Given the description of an element on the screen output the (x, y) to click on. 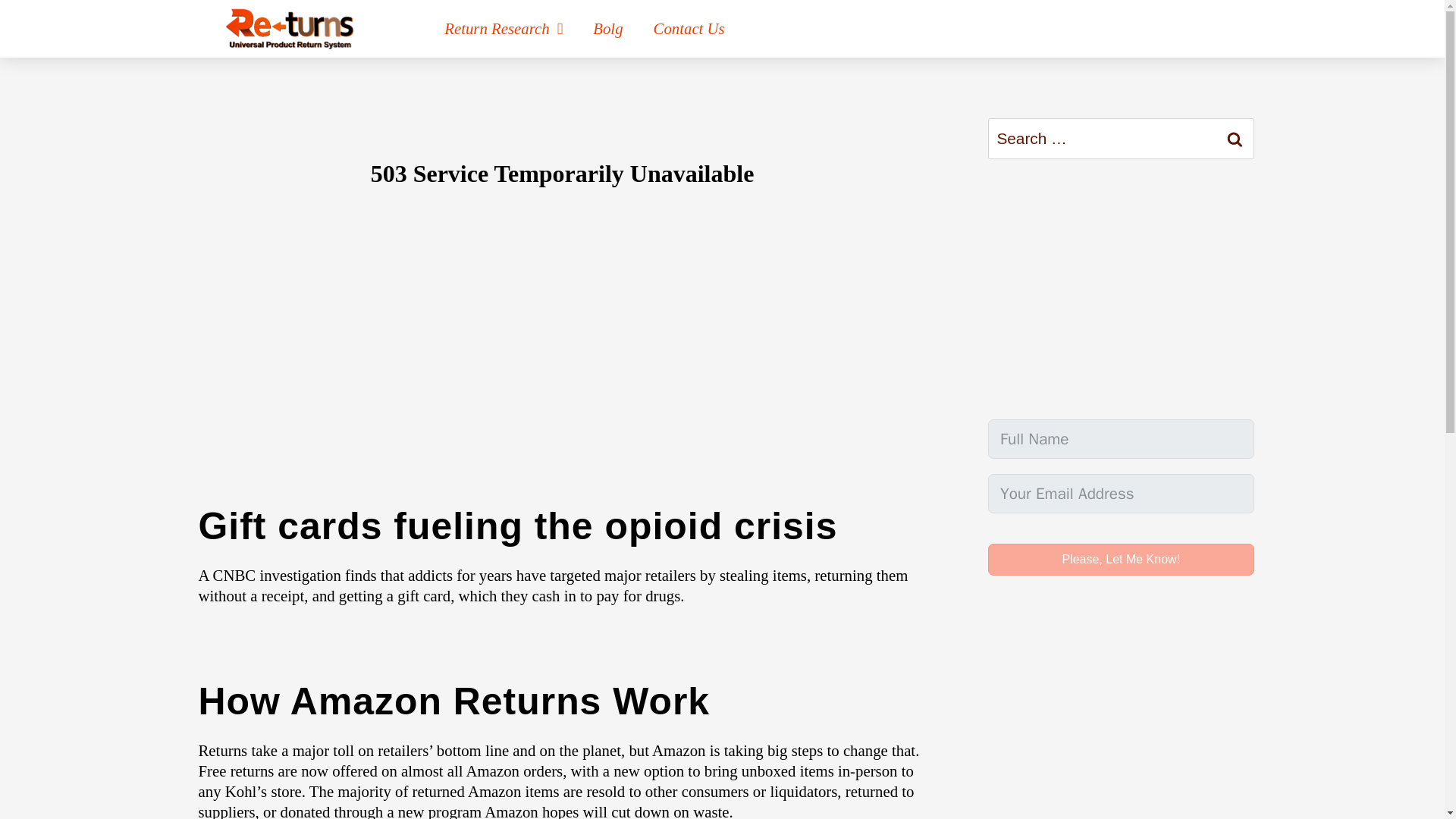
Search (1234, 137)
Search (1234, 137)
Search (1234, 137)
Bolg (607, 28)
Contact Us (689, 28)
Return Research (503, 28)
Advertisement (1120, 289)
Advertisement (1120, 716)
